Given the description of an element on the screen output the (x, y) to click on. 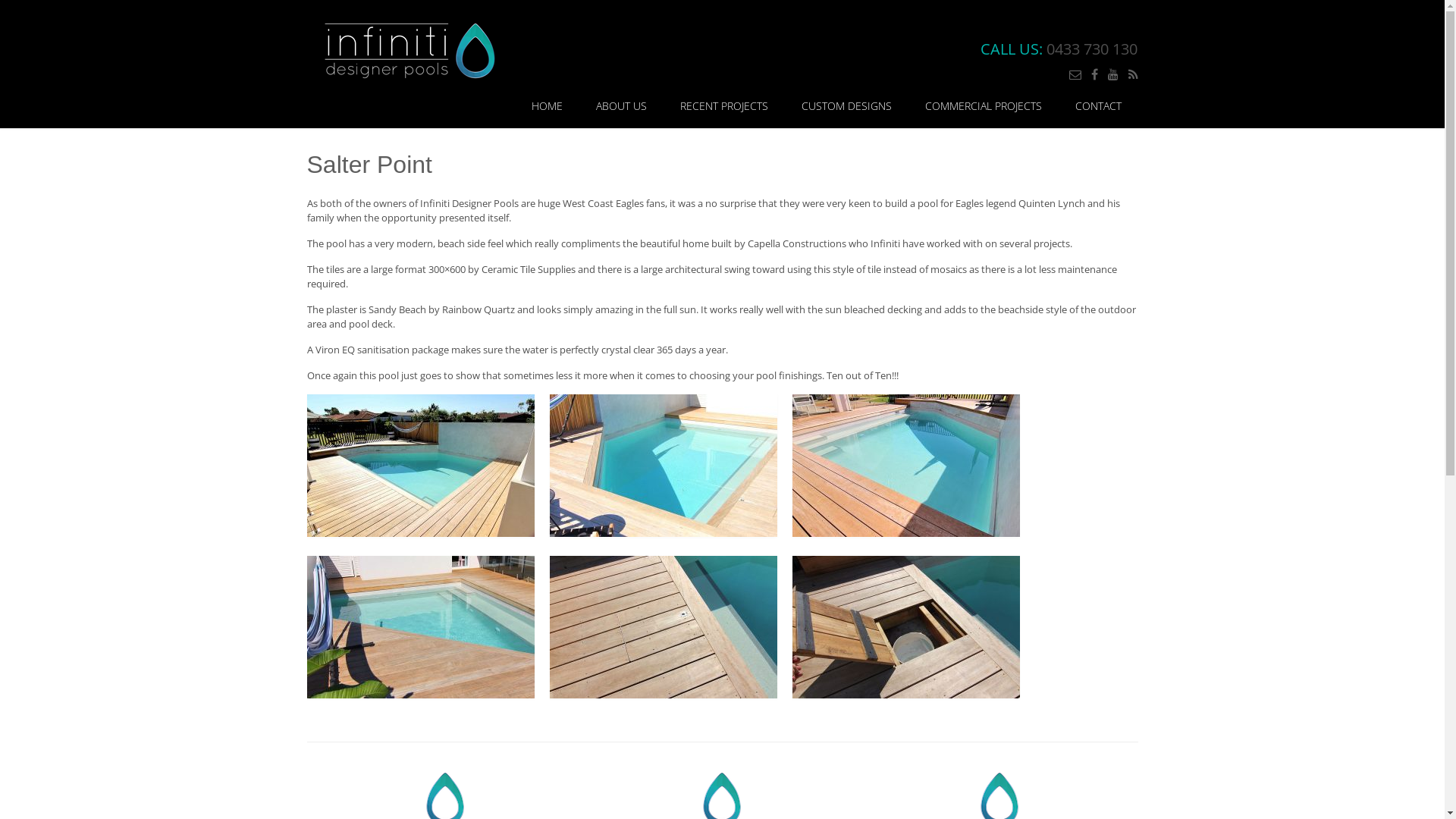
HOME Element type: text (546, 105)
Infiniti Designer Pools Element type: hover (408, 49)
ABOUT US Element type: text (621, 105)
Send us an email Element type: hover (1075, 74)
RECENT PROJECTS Element type: text (723, 105)
CUSTOM DESIGNS Element type: text (845, 105)
View our YouTube Channel Element type: hover (1112, 74)
COMMERCIAL PROJECTS Element type: text (983, 105)
Find us on Facebook Element type: hover (1093, 74)
Our Blog Element type: hover (1133, 74)
CONTACT Element type: text (1098, 105)
